Given the description of an element on the screen output the (x, y) to click on. 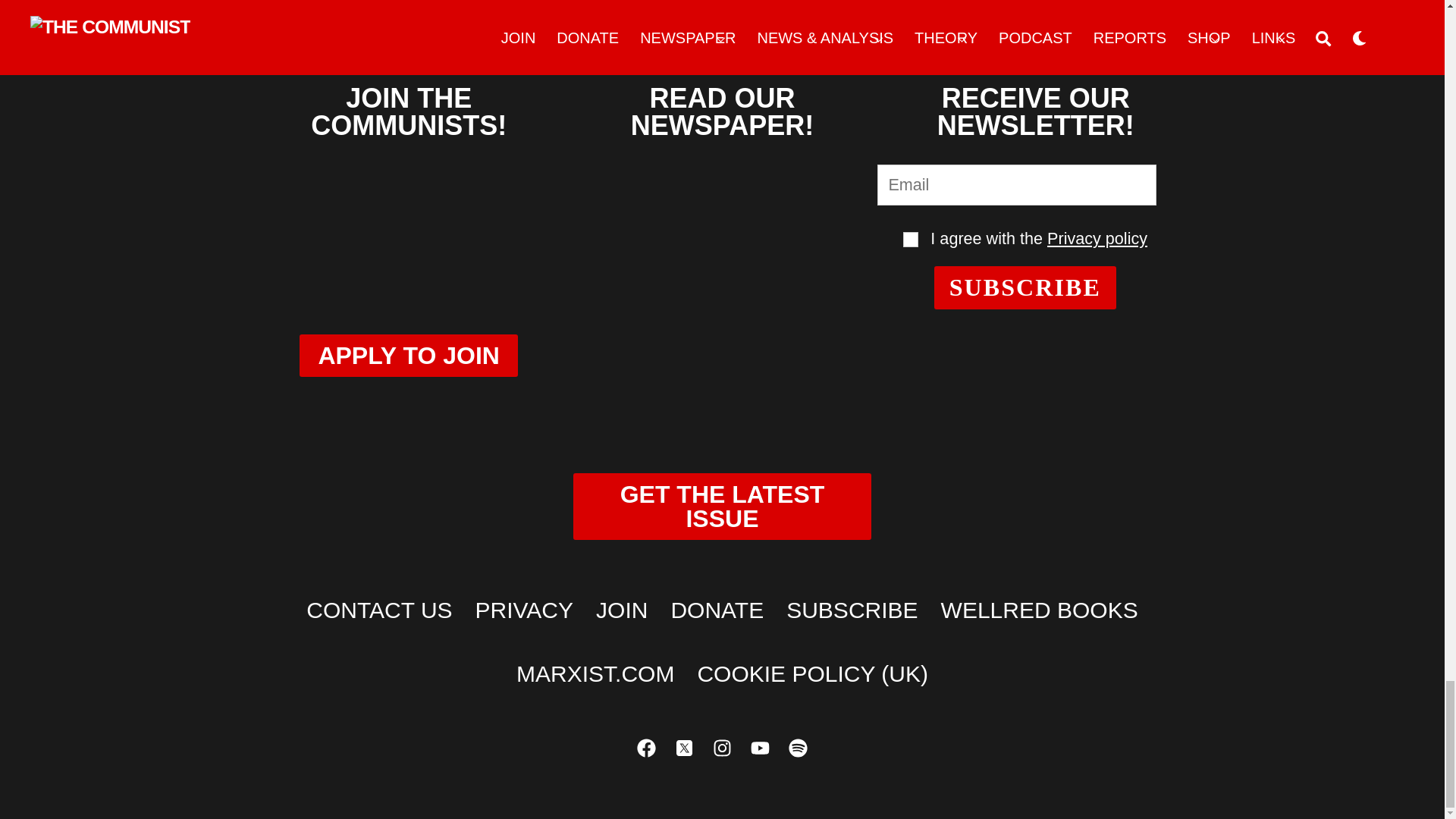
Privacy policy (1096, 238)
on (910, 239)
Terms and conditions (910, 239)
